Given the description of an element on the screen output the (x, y) to click on. 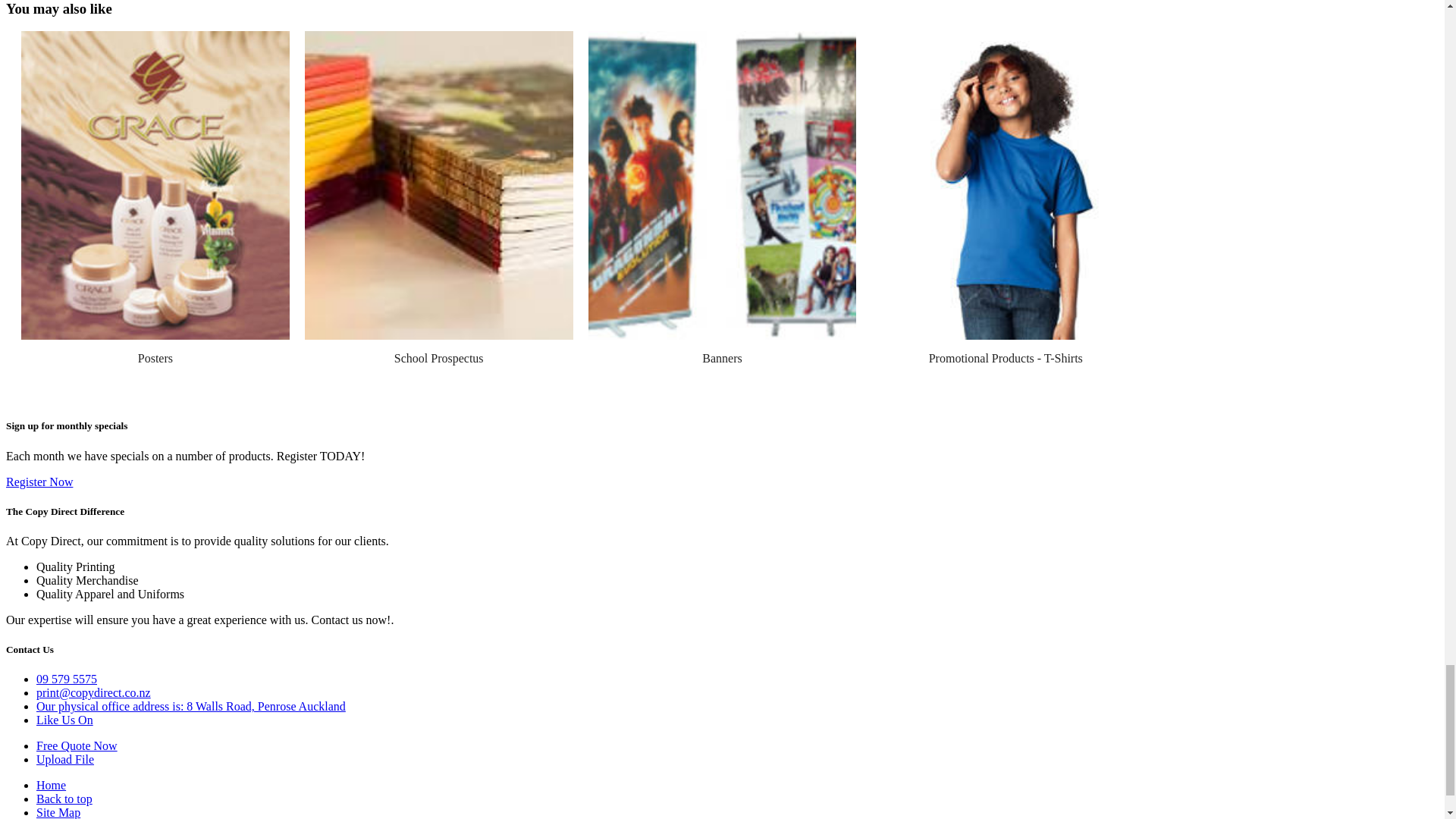
Banners (721, 358)
School Prospectus (438, 358)
Posters (155, 358)
